Given the description of an element on the screen output the (x, y) to click on. 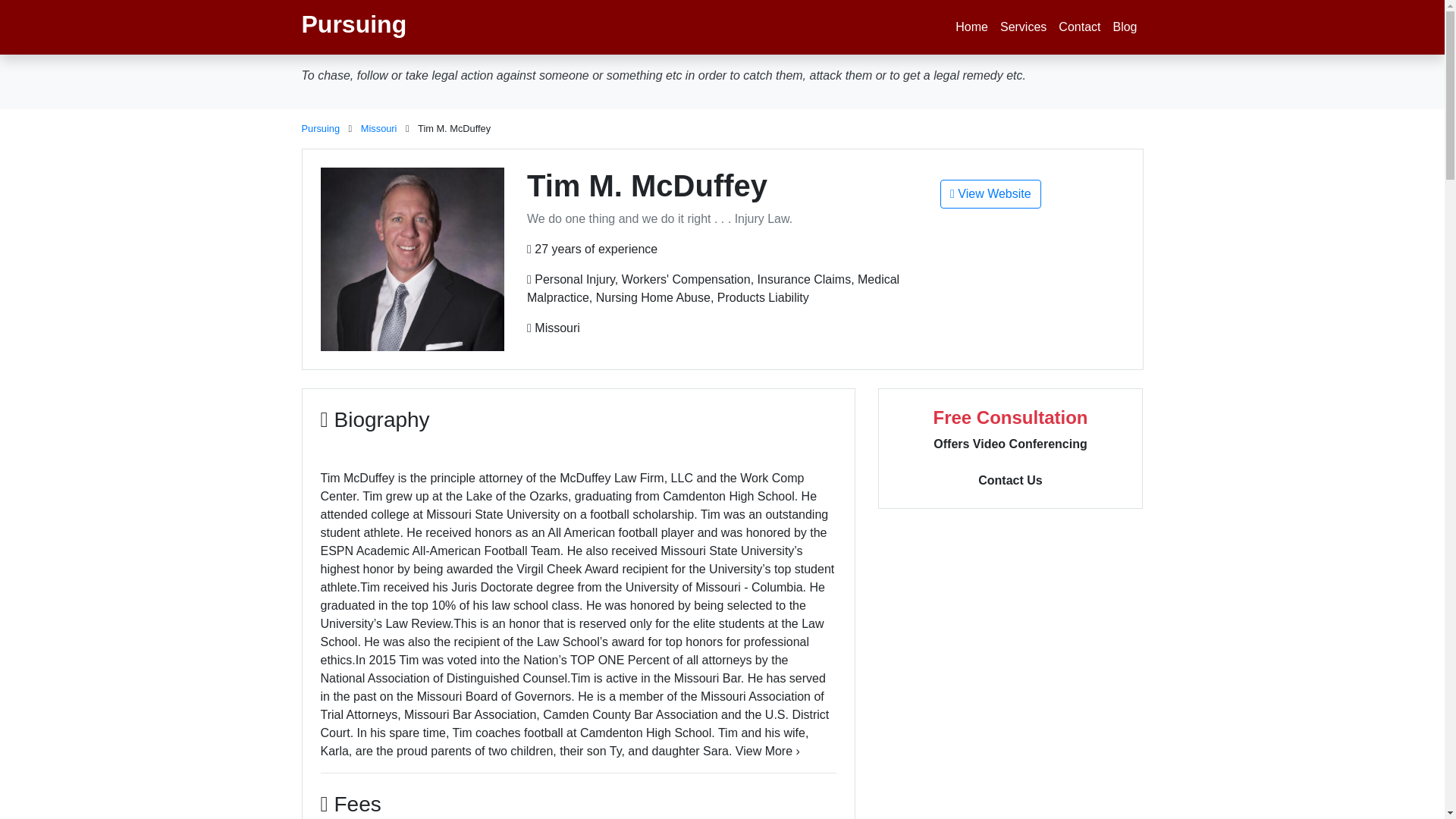
Pursuing (354, 26)
Missouri (379, 128)
Pursuing (320, 128)
Home (971, 27)
View Website (990, 193)
Blog (1124, 27)
Contact (1079, 27)
Services (1023, 27)
